Given the description of an element on the screen output the (x, y) to click on. 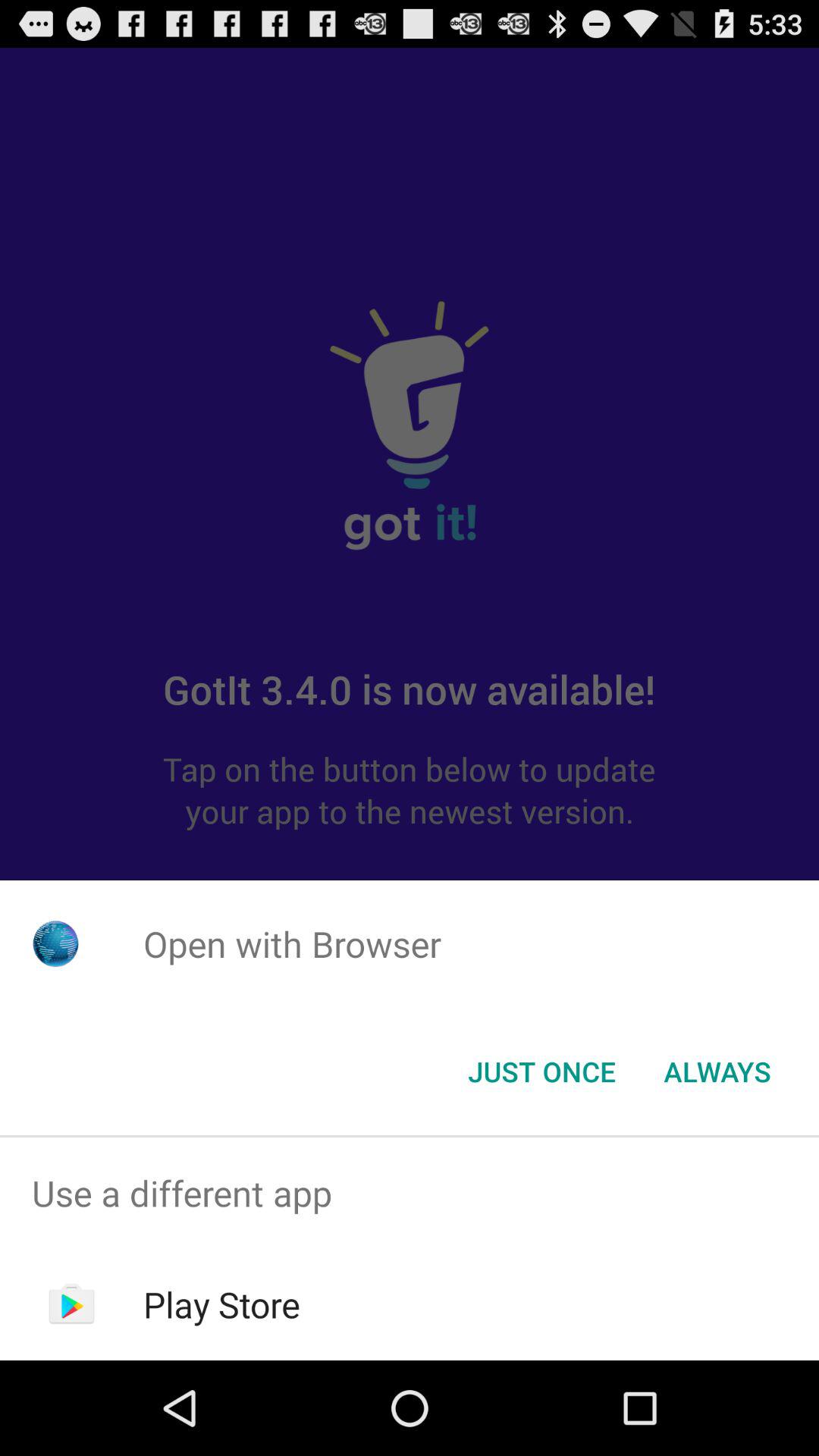
tap always at the bottom right corner (717, 1071)
